Given the description of an element on the screen output the (x, y) to click on. 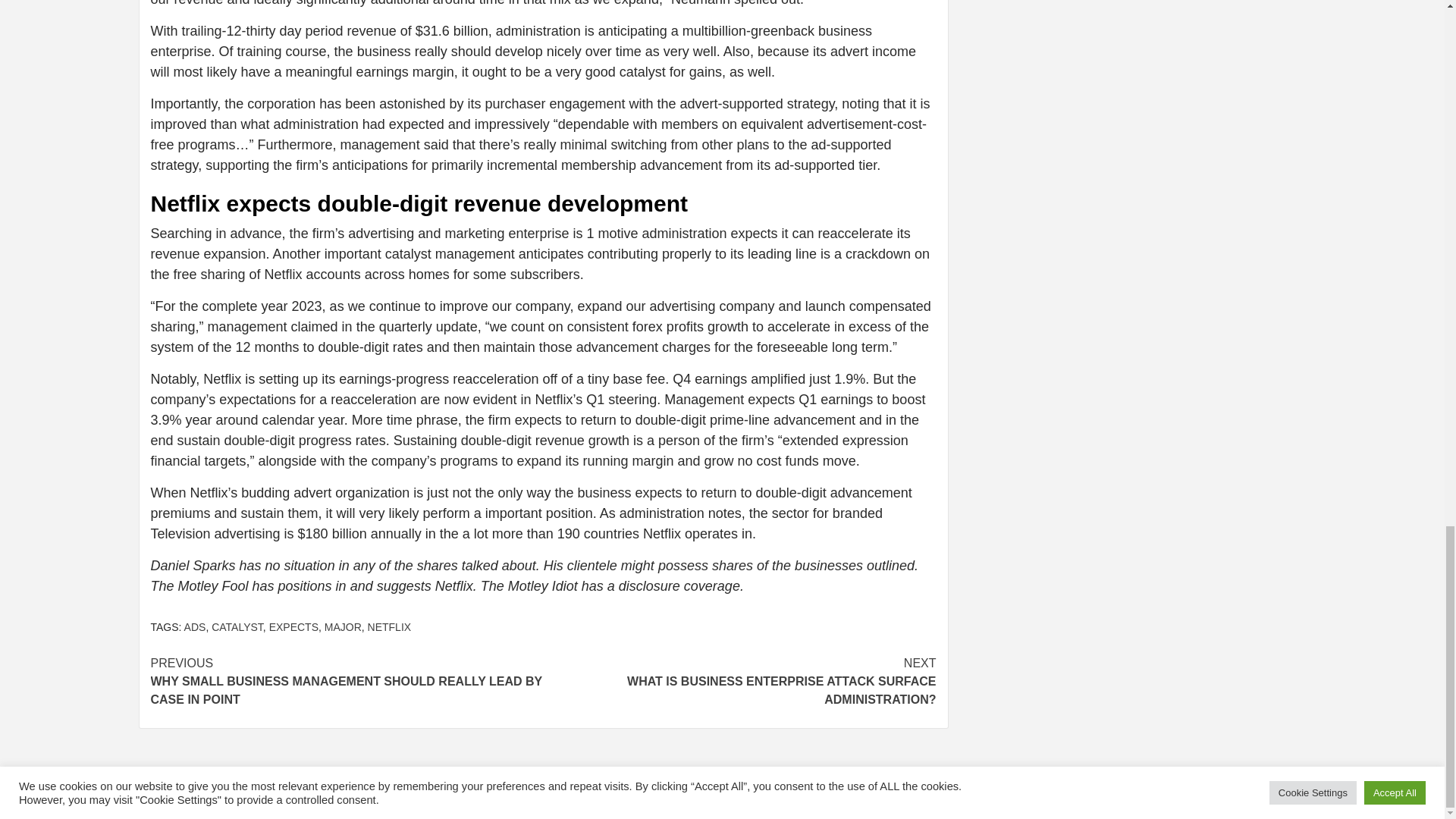
ADS (195, 626)
Magazine 7 (798, 793)
NETFLIX (390, 626)
CATALYST (237, 626)
MAJOR (342, 626)
EXPECTS (293, 626)
